Given the description of an element on the screen output the (x, y) to click on. 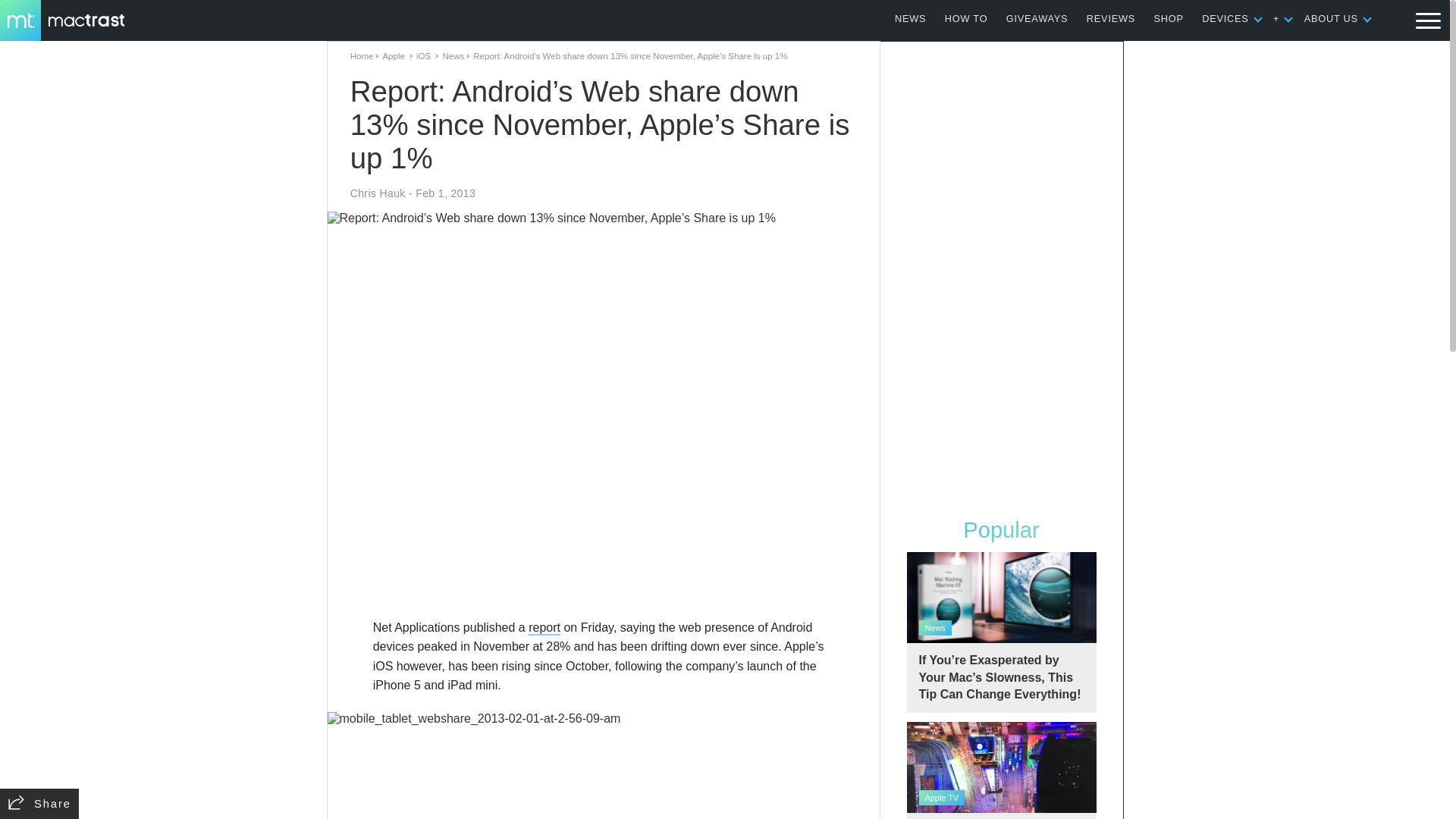
Advertisement (603, 572)
REVIEWS (1110, 18)
Posts by Chris Hauk (378, 193)
Apple TV Screensavers and Their Locations Identified 2024 (1001, 770)
NEWS (910, 18)
DEVICES (1224, 18)
HOW TO (966, 18)
GIVEAWAYS (1037, 18)
ABOUT US (1331, 18)
SHOP (1168, 18)
